Given the description of an element on the screen output the (x, y) to click on. 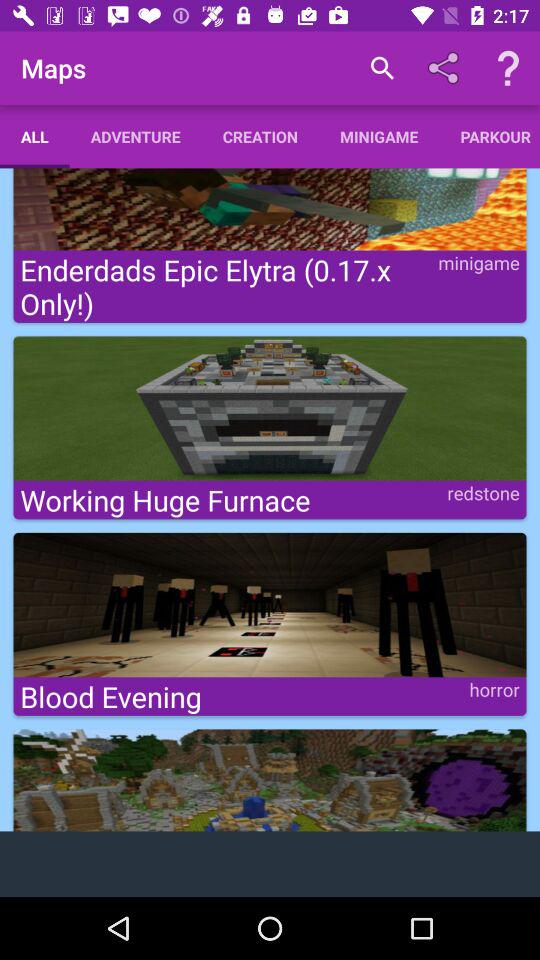
turn off the app above the parkour item (508, 67)
